Given the description of an element on the screen output the (x, y) to click on. 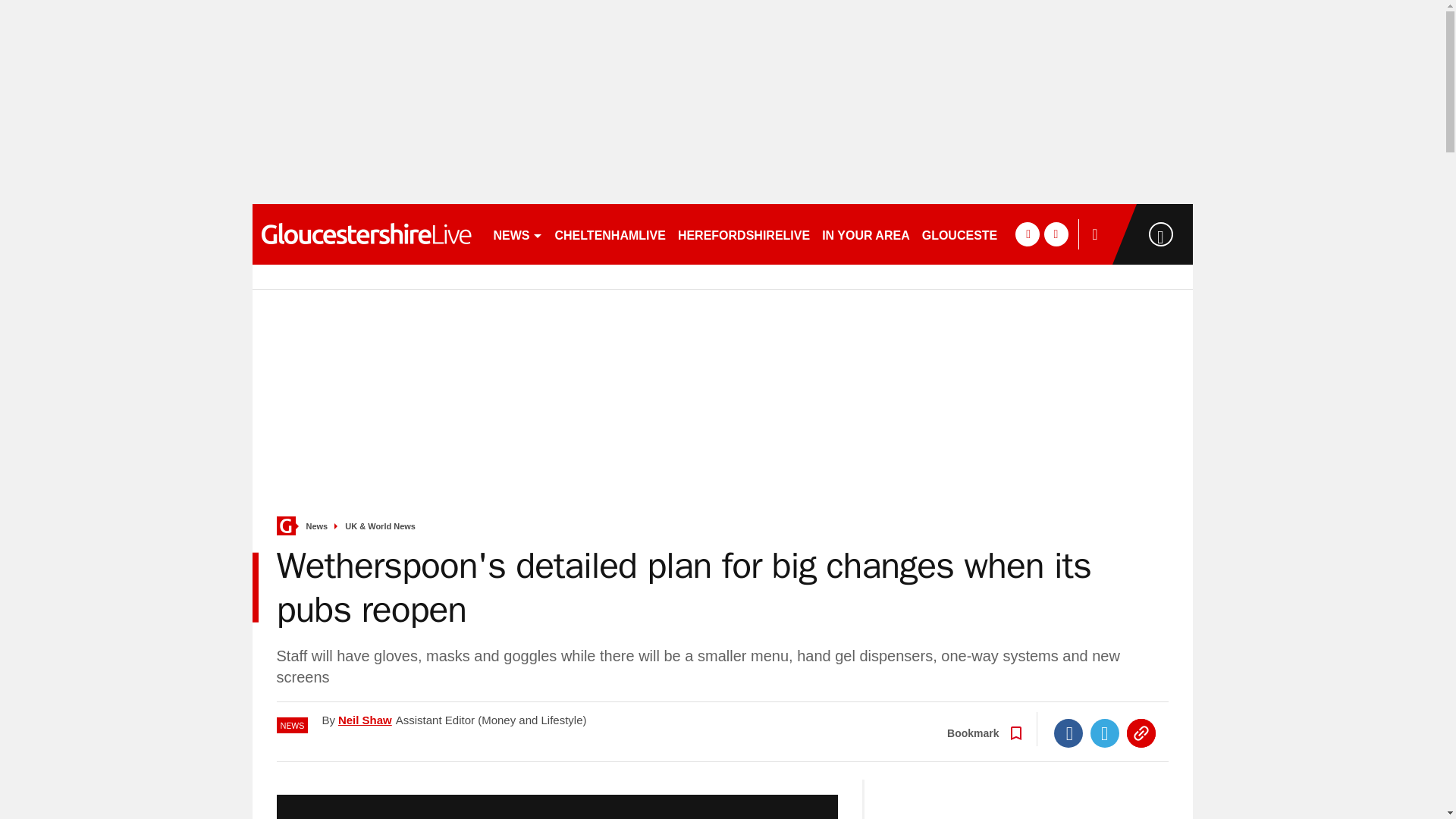
GLOUCESTER NEWS (983, 233)
Twitter (1104, 733)
twitter (1055, 233)
HEREFORDSHIRELIVE (743, 233)
NEWS (517, 233)
CHELTENHAMLIVE (609, 233)
Facebook (1068, 733)
facebook (1026, 233)
IN YOUR AREA (865, 233)
gloucestershirelive (365, 233)
